Given the description of an element on the screen output the (x, y) to click on. 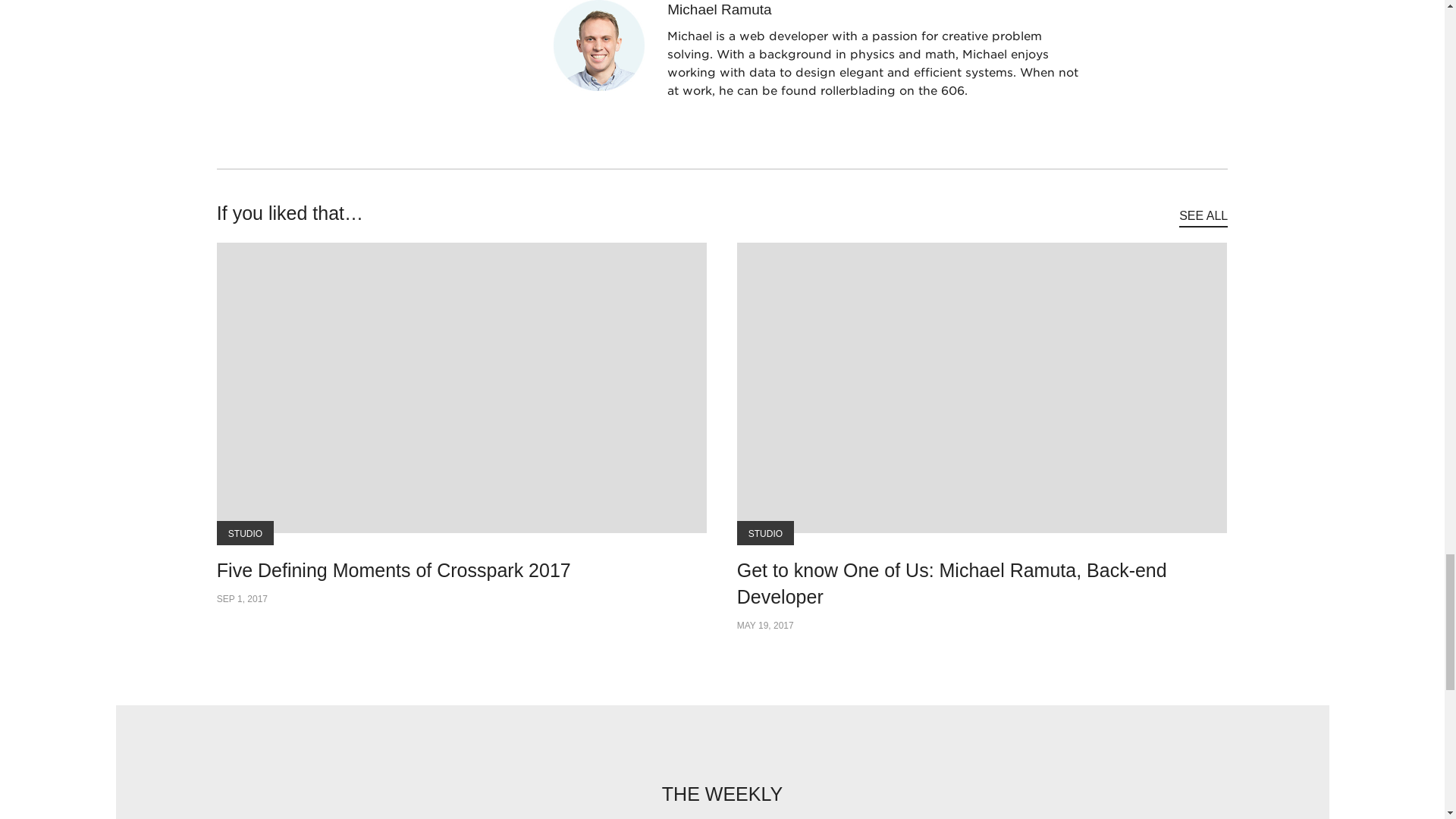
STUDIO (764, 532)
Michael Ramuta (818, 10)
STUDIO (244, 532)
Get to know One of Us: Michael Ramuta, Back-end Developer (981, 583)
Five Defining Moments of Crosspark 2017 (393, 570)
SEE ALL (1203, 216)
